Given the description of an element on the screen output the (x, y) to click on. 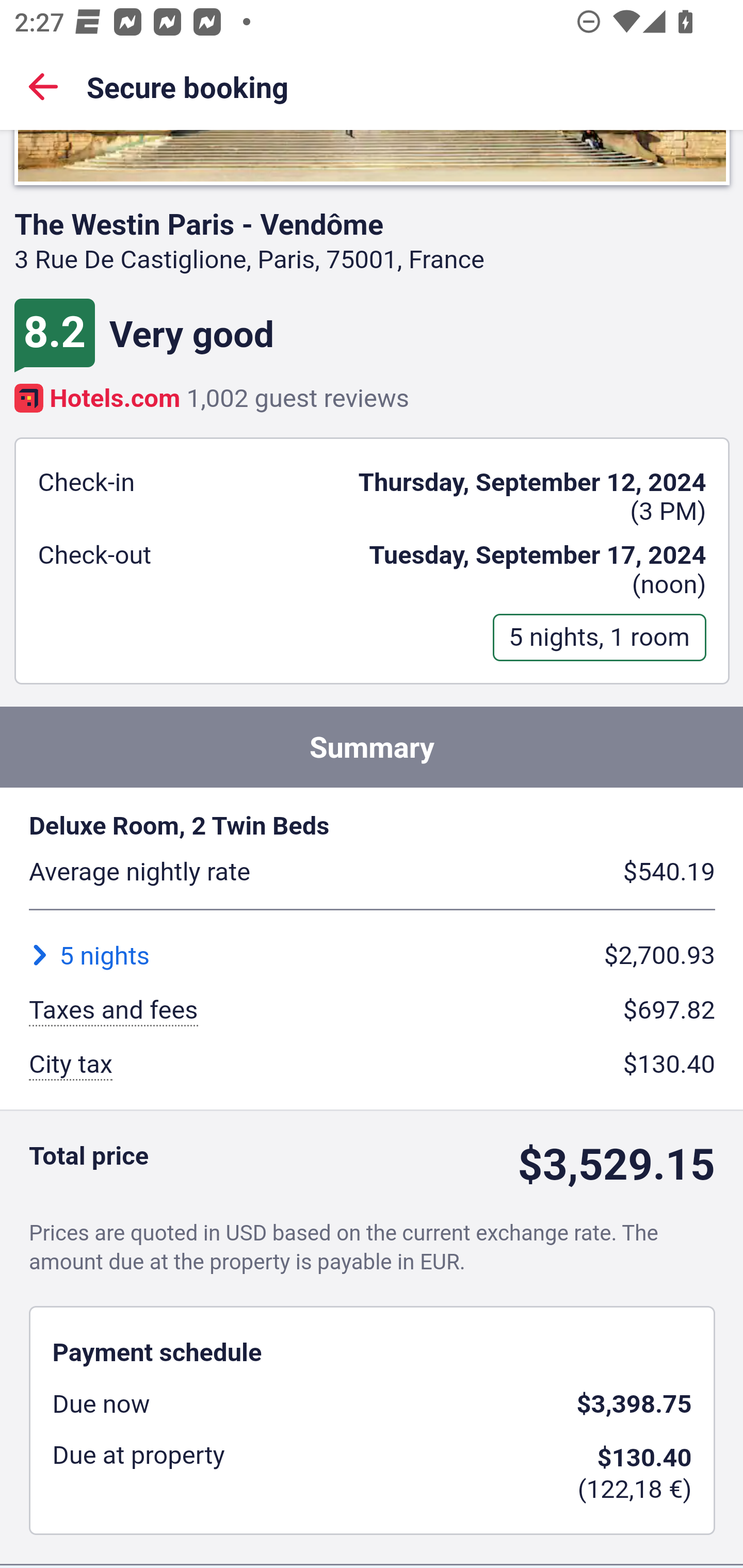
Back (43, 86)
5 nights (88, 955)
Taxes and fees (113, 1011)
City tax (70, 1065)
